Given the description of an element on the screen output the (x, y) to click on. 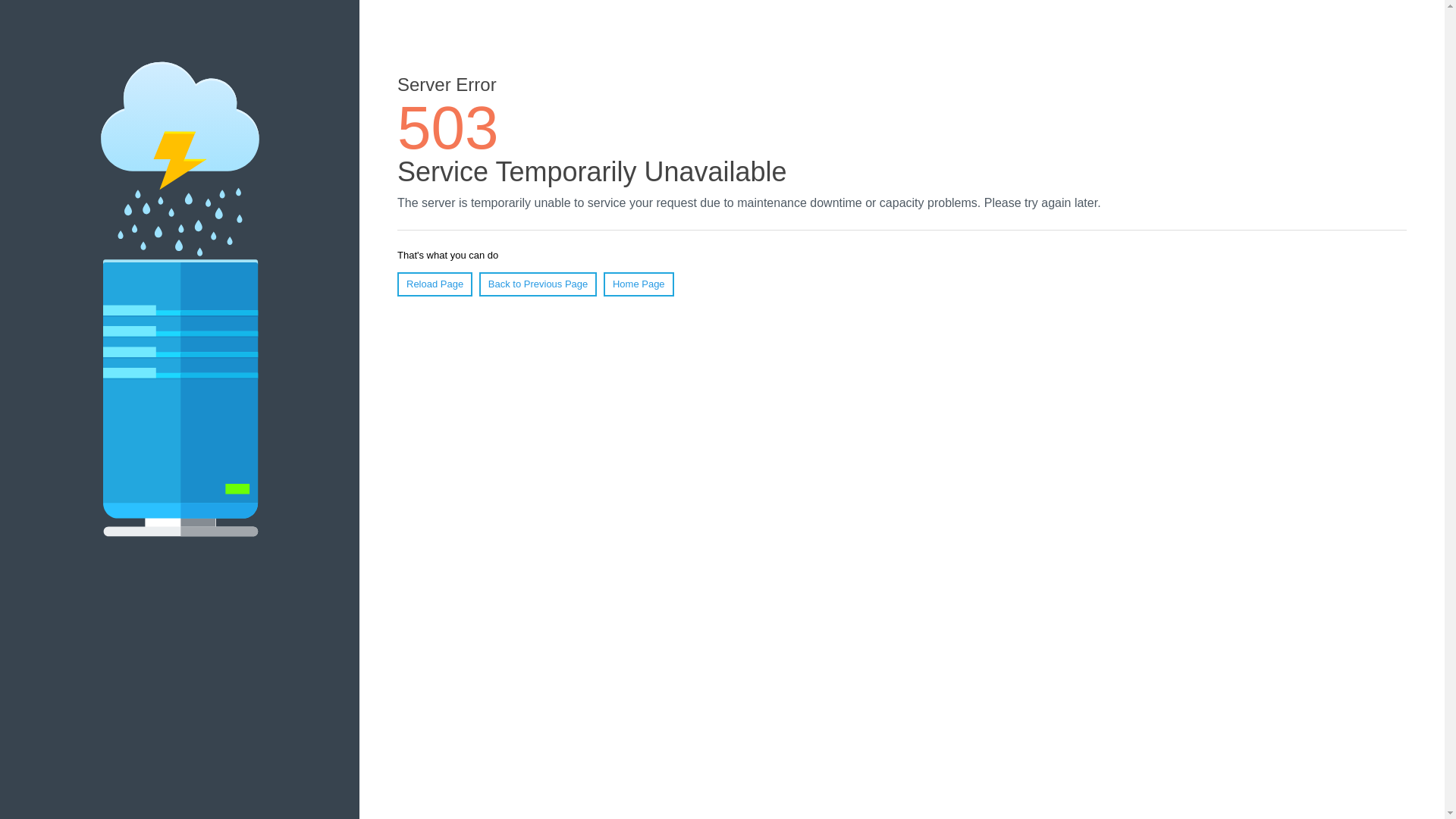
Home Page (639, 283)
Back to Previous Page (537, 283)
Reload Page (434, 283)
